Given the description of an element on the screen output the (x, y) to click on. 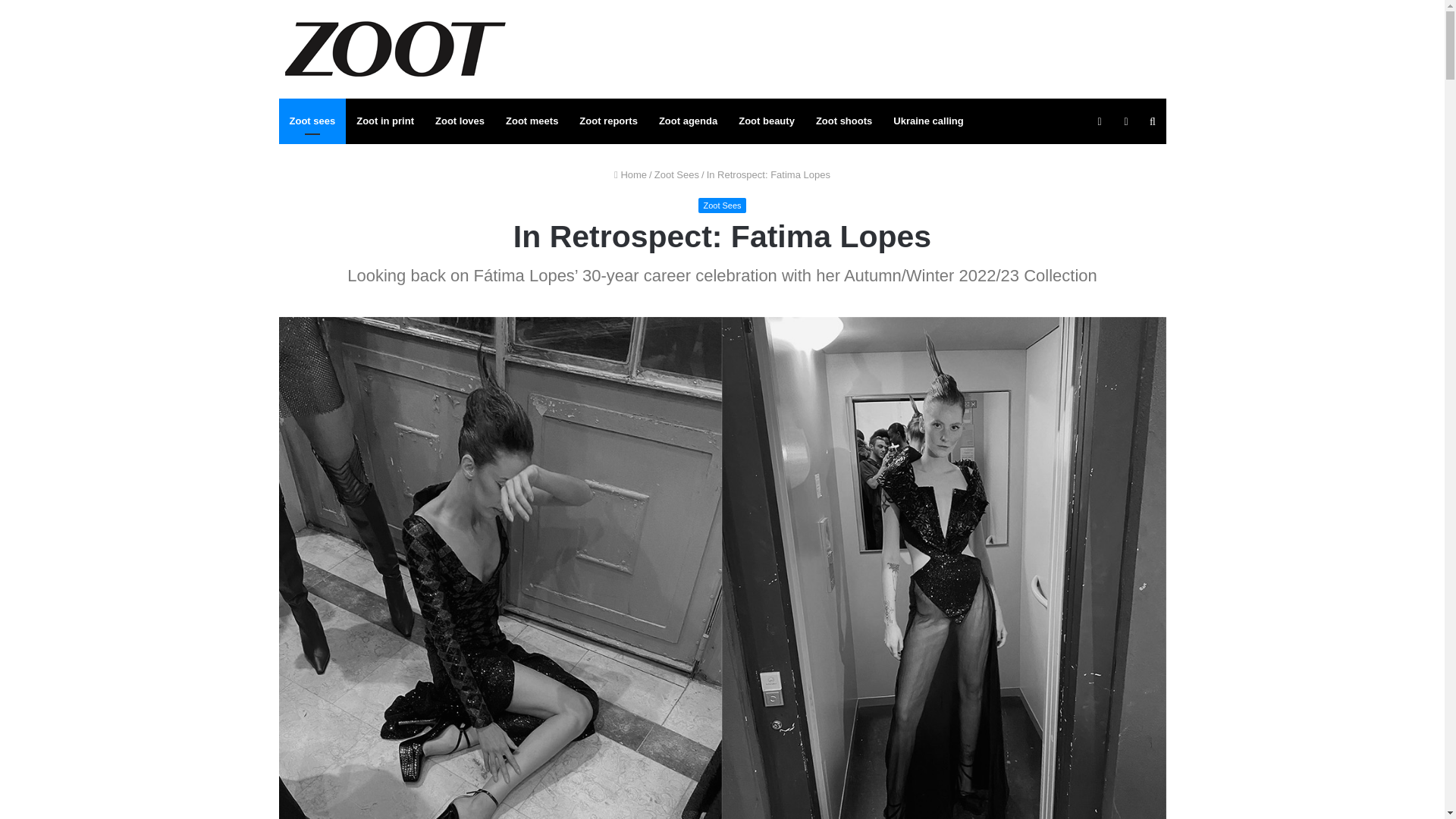
Zoot agenda (687, 121)
Zoot beauty (766, 121)
Zoot Sees (675, 174)
Zoot sees (312, 121)
Ukraine calling (928, 121)
Zoot loves (460, 121)
ZootMagazine (395, 49)
Zoot in print (385, 121)
Zoot shoots (843, 121)
Zoot meets (532, 121)
